Given the description of an element on the screen output the (x, y) to click on. 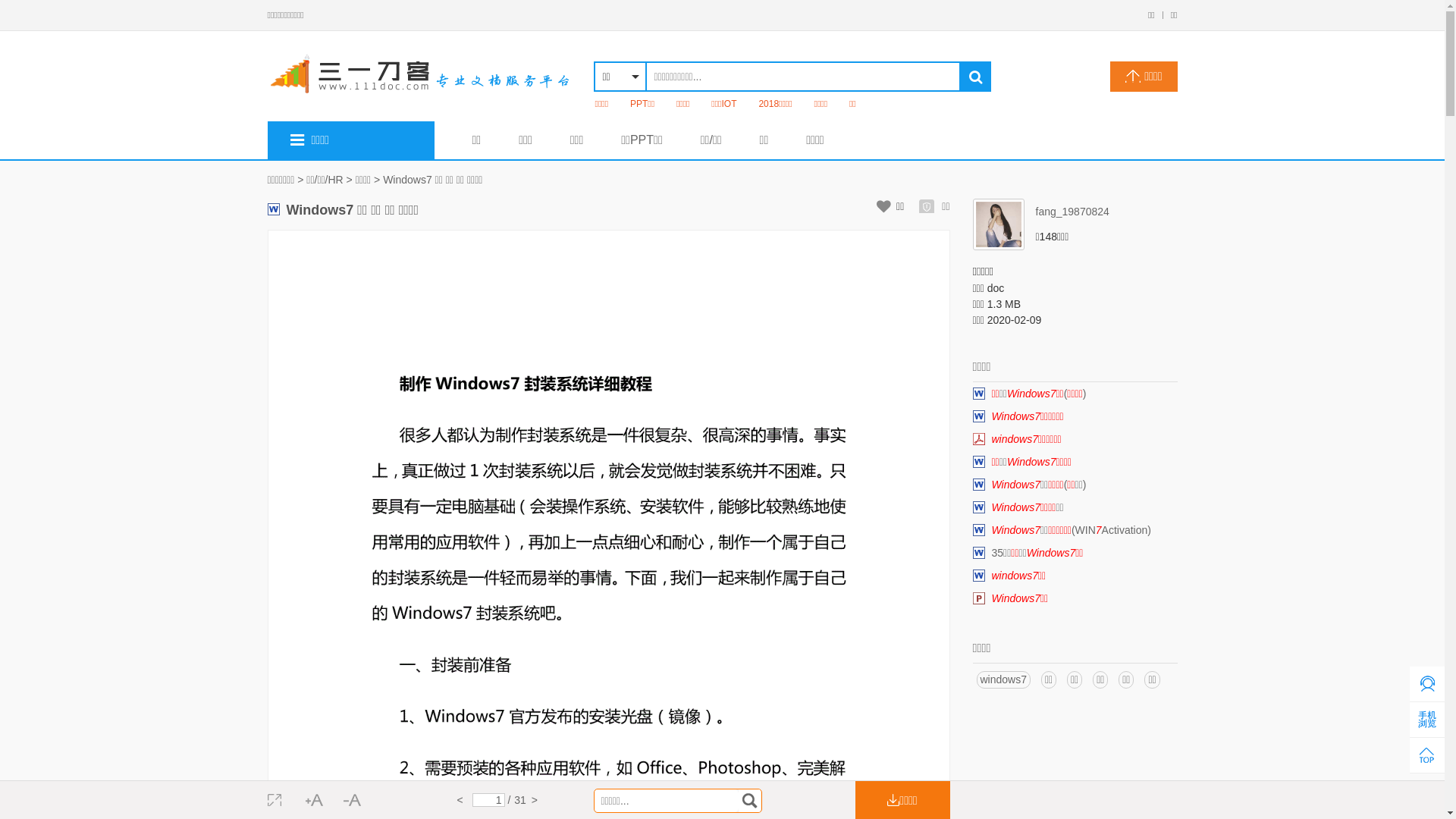
windows7 Element type: text (1003, 678)
fang_19870824 Element type: text (1074, 211)
